Given the description of an element on the screen output the (x, y) to click on. 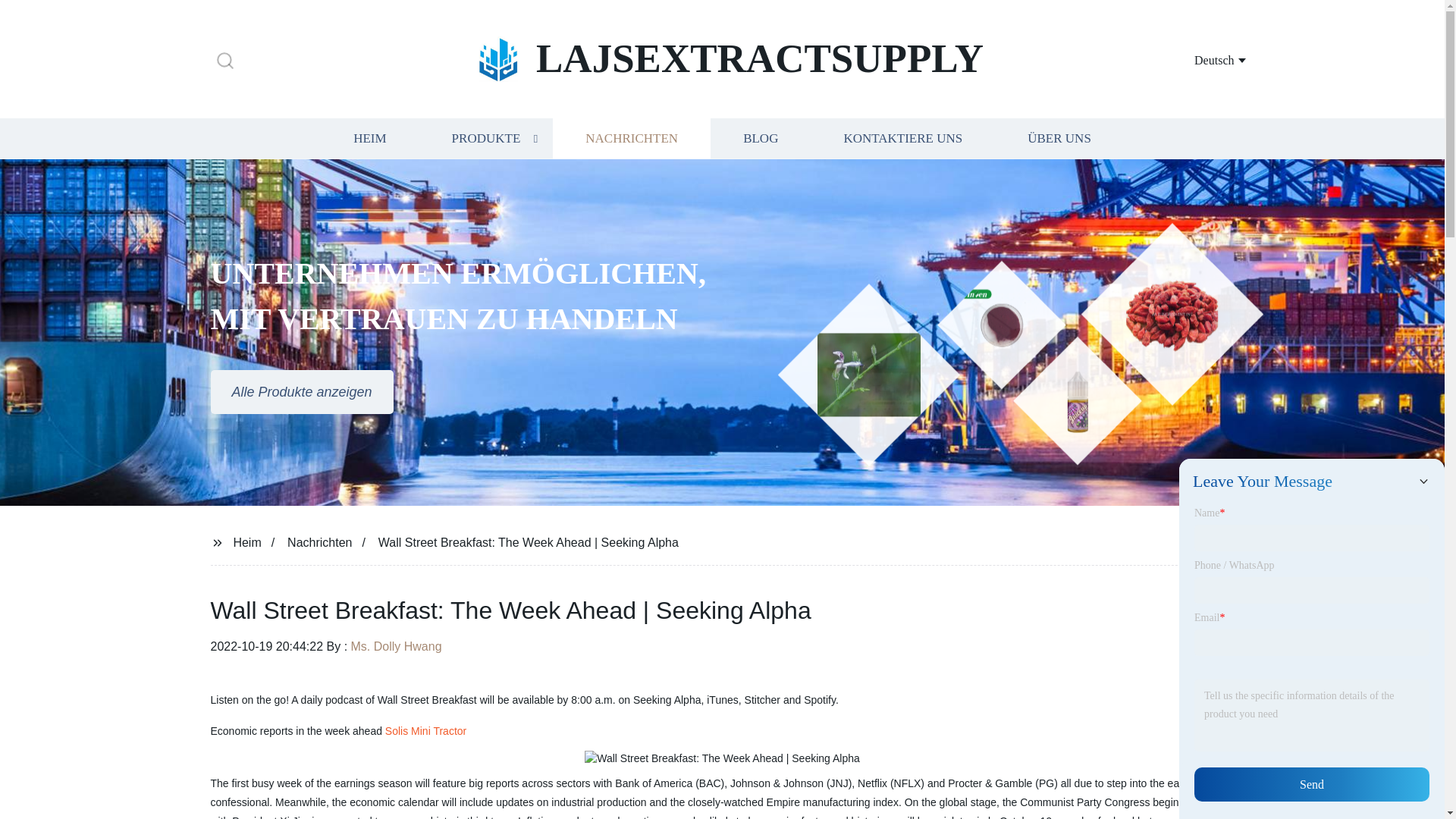
NACHRICHTEN (631, 137)
Solis Mini Tractor (425, 730)
PRODUKTE (486, 137)
KONTAKTIERE UNS (902, 137)
Top (1404, 779)
BLOG (760, 137)
Nachrichten (319, 541)
Heim (246, 541)
HEIM (369, 137)
Deutsch (1201, 59)
Deutsch (1201, 59)
